Given the description of an element on the screen output the (x, y) to click on. 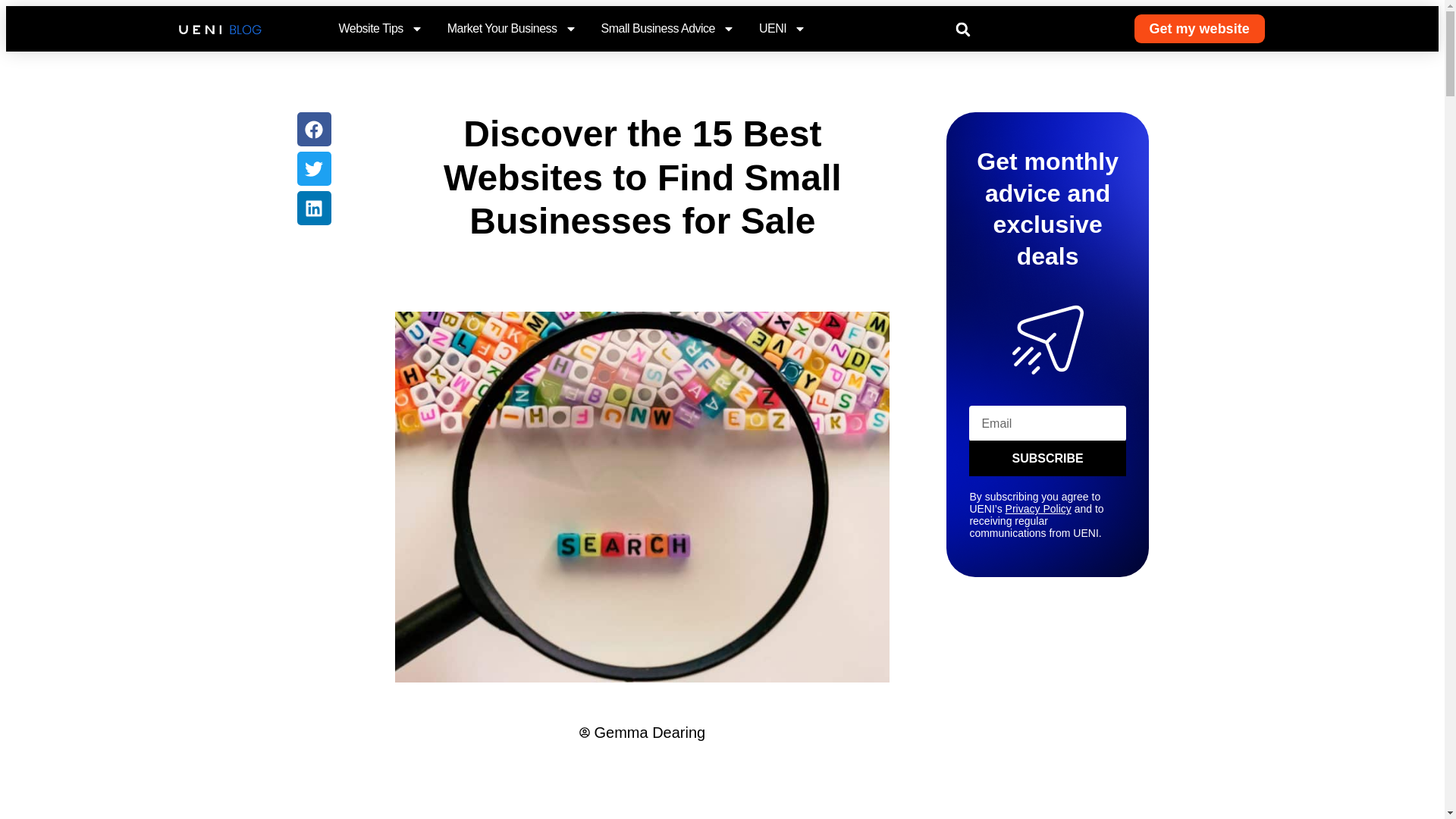
Get my website (1199, 28)
Small Business Advice (668, 28)
Website Tips (379, 28)
Market Your Business (511, 28)
Gemma Dearing (641, 732)
UENI (782, 28)
